Given the description of an element on the screen output the (x, y) to click on. 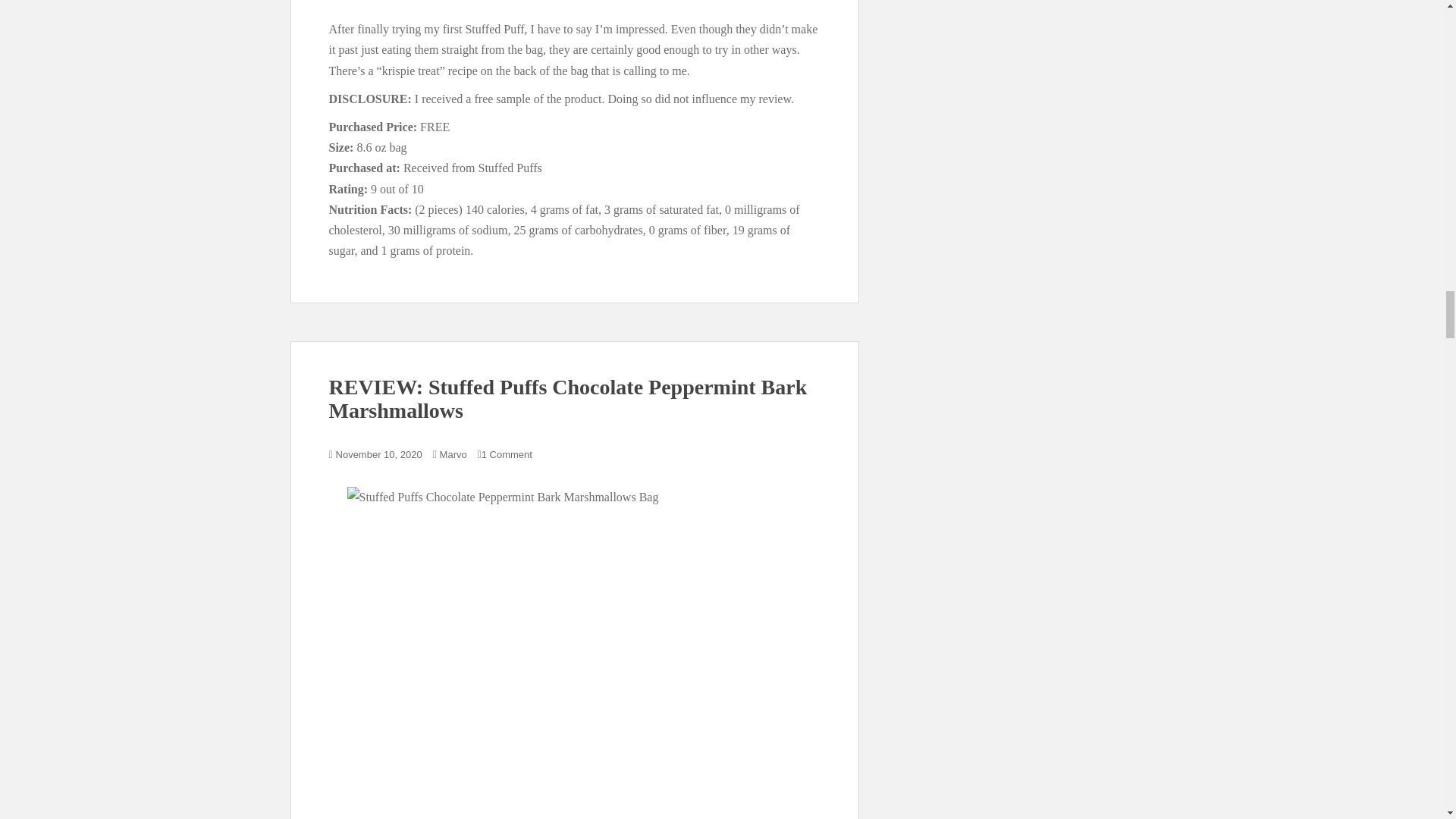
REVIEW: Stuffed Puffs Chocolate Peppermint Bark Marshmallows (568, 398)
1 Comment (506, 454)
candcstuffedpuffs3.jpeg (574, 5)
Marvo (453, 454)
November 10, 2020 (379, 454)
